Given the description of an element on the screen output the (x, y) to click on. 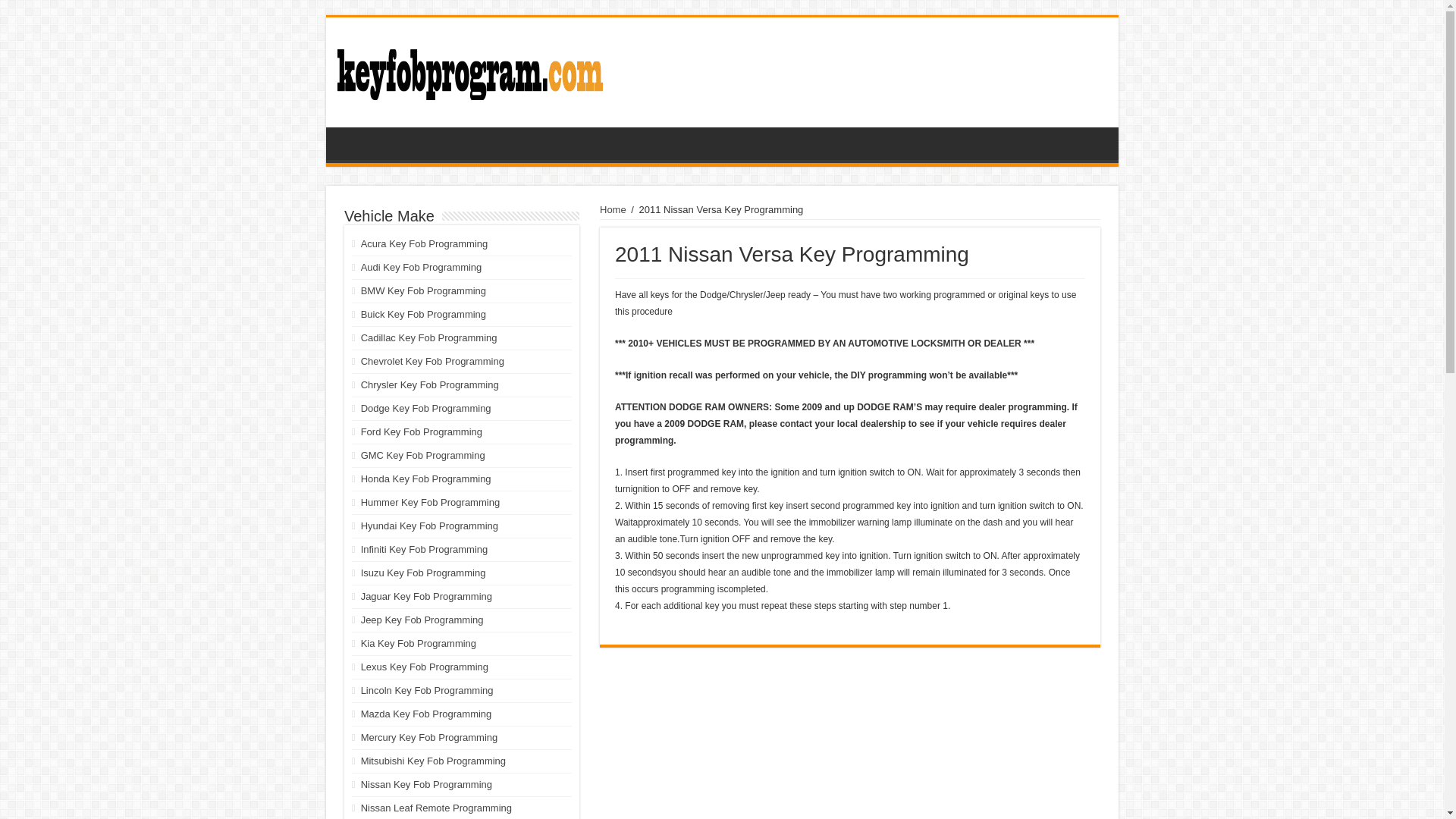
Honda Key Fob Programming (426, 478)
Kia Key Fob Programming (418, 643)
Lexus Key Fob Programming (424, 666)
Audi Key Fob Programming (421, 266)
Cadillac Key Fob Programming (429, 337)
Mazda Key Fob Programming (426, 713)
GMC Key Fob Programming (422, 455)
Nissan Leaf Remote Programming (436, 808)
Home (612, 209)
Chevrolet Key Fob Programming (432, 360)
